Given the description of an element on the screen output the (x, y) to click on. 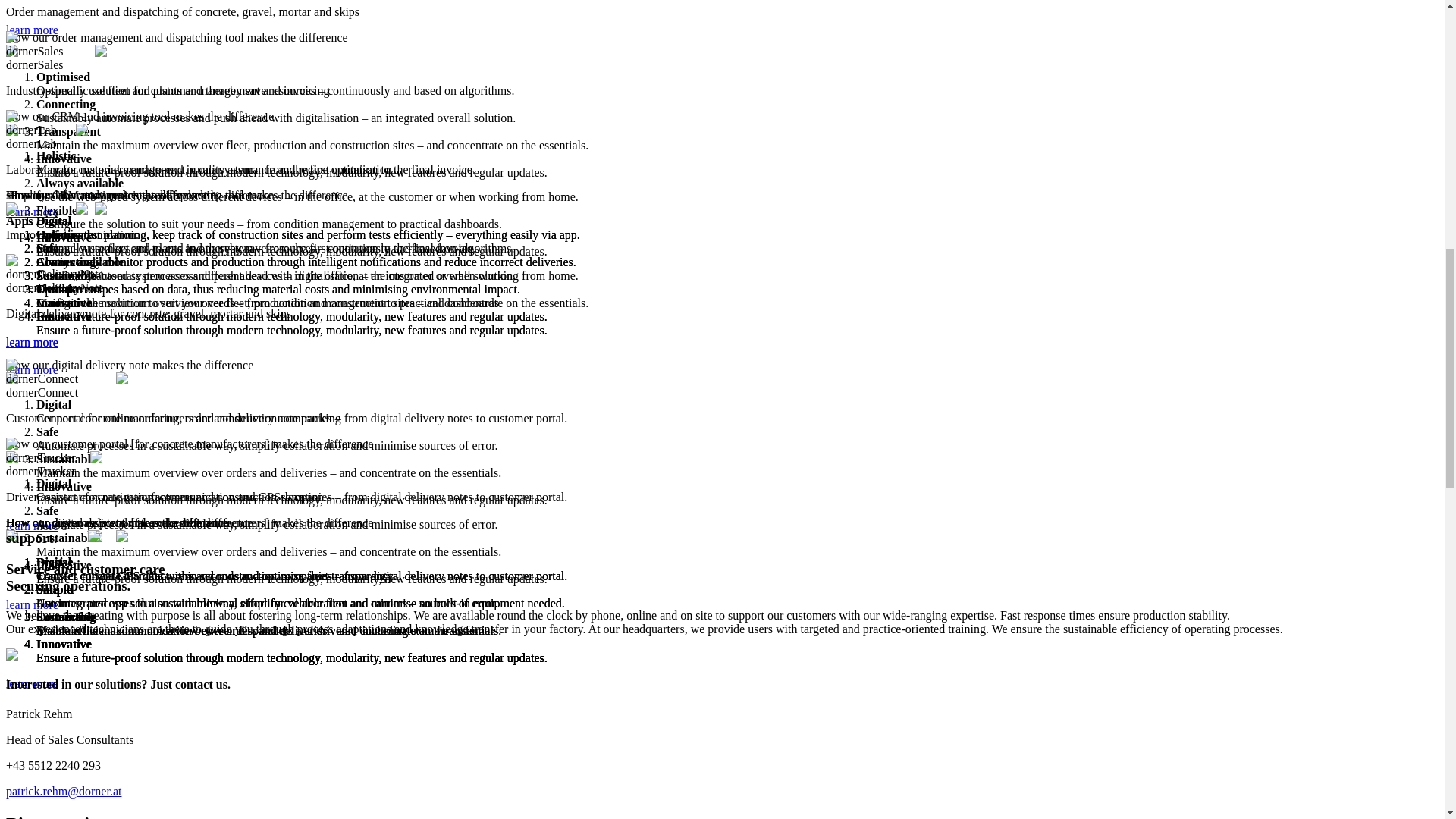
learn more (31, 341)
learn more (31, 29)
learn more (31, 211)
learn more (31, 683)
learn more (31, 369)
learn more (31, 525)
learn more (31, 604)
